Given the description of an element on the screen output the (x, y) to click on. 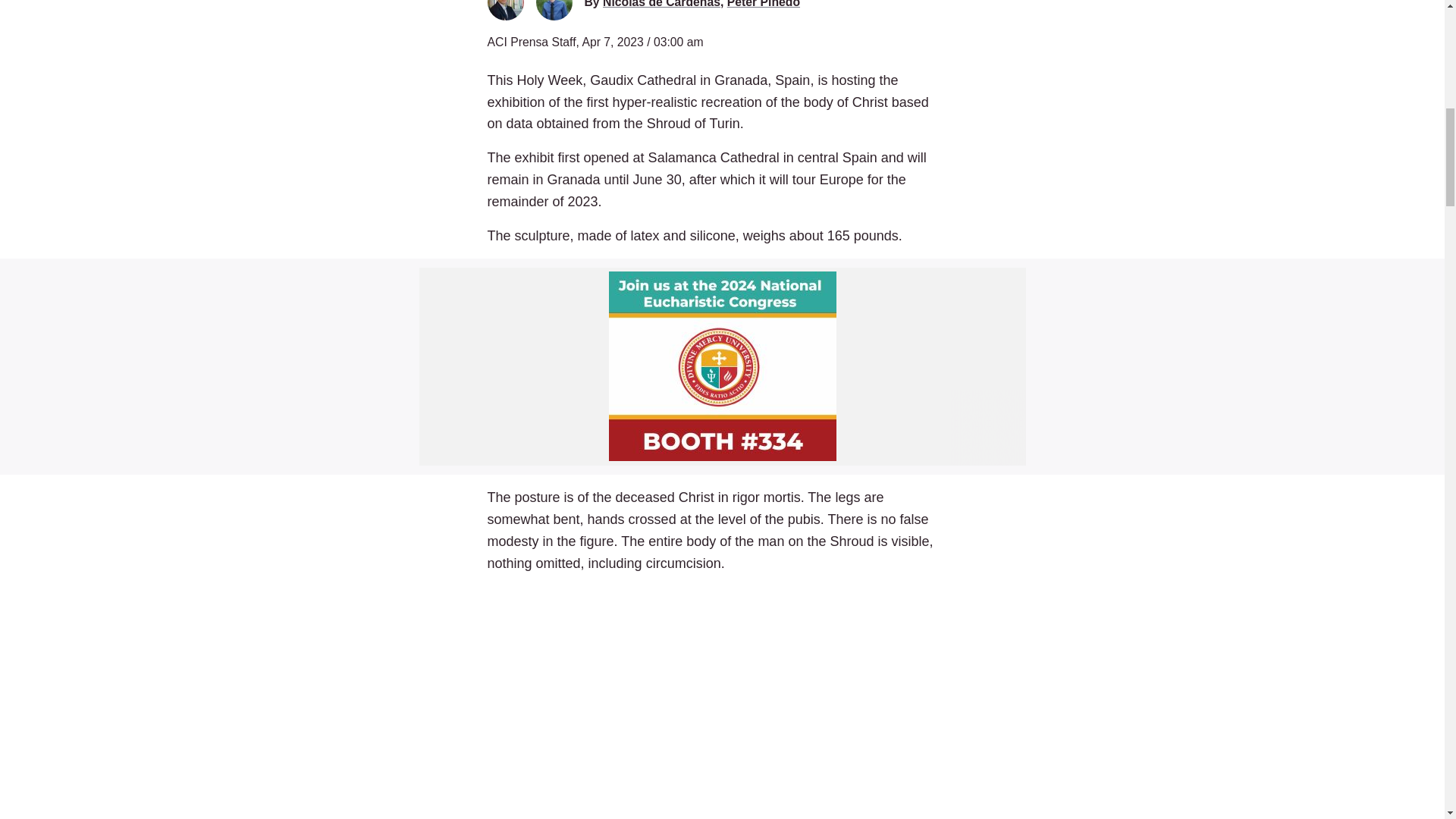
3rd party ad content (722, 366)
